Given the description of an element on the screen output the (x, y) to click on. 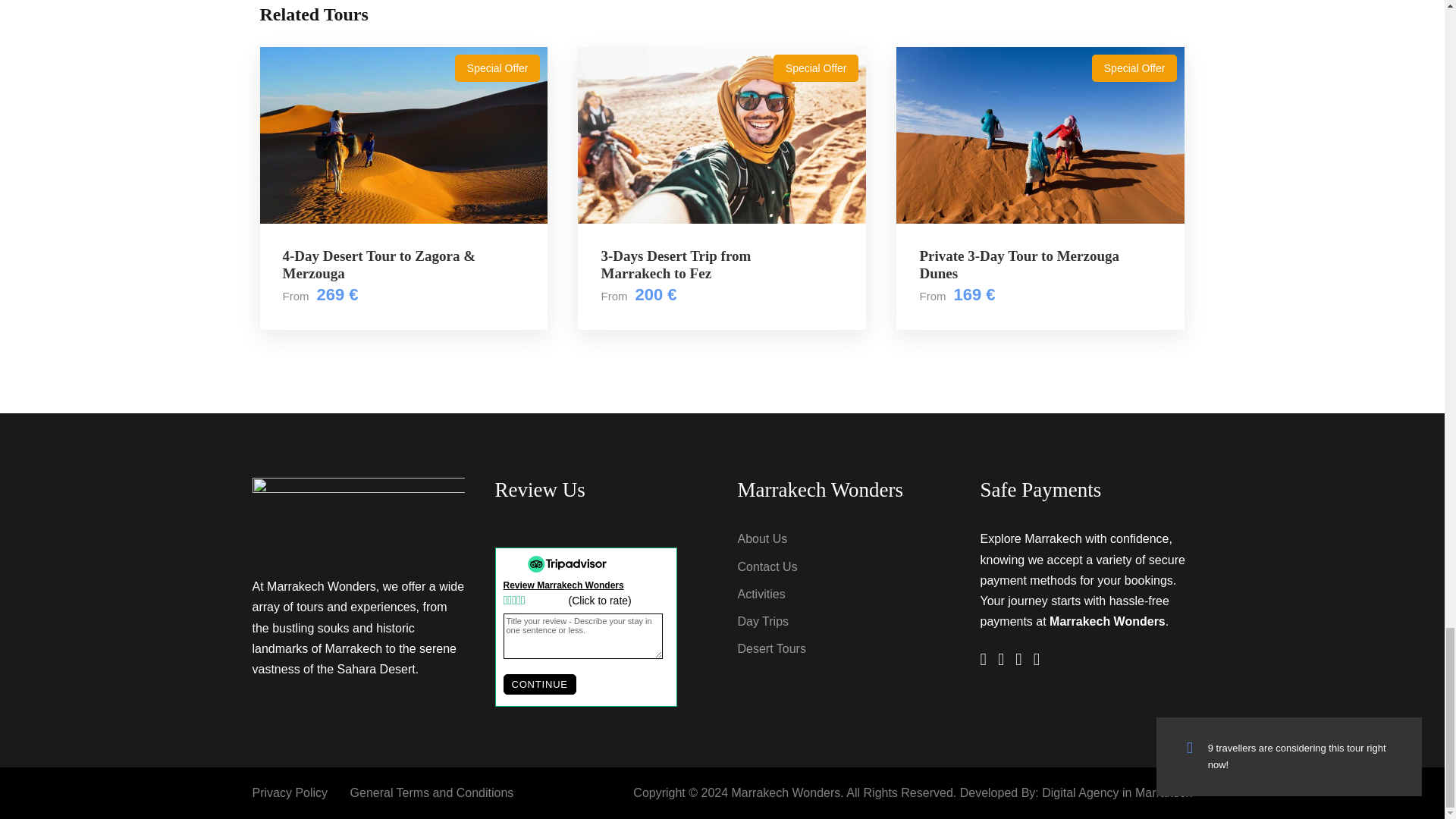
Continue (539, 684)
